Given the description of an element on the screen output the (x, y) to click on. 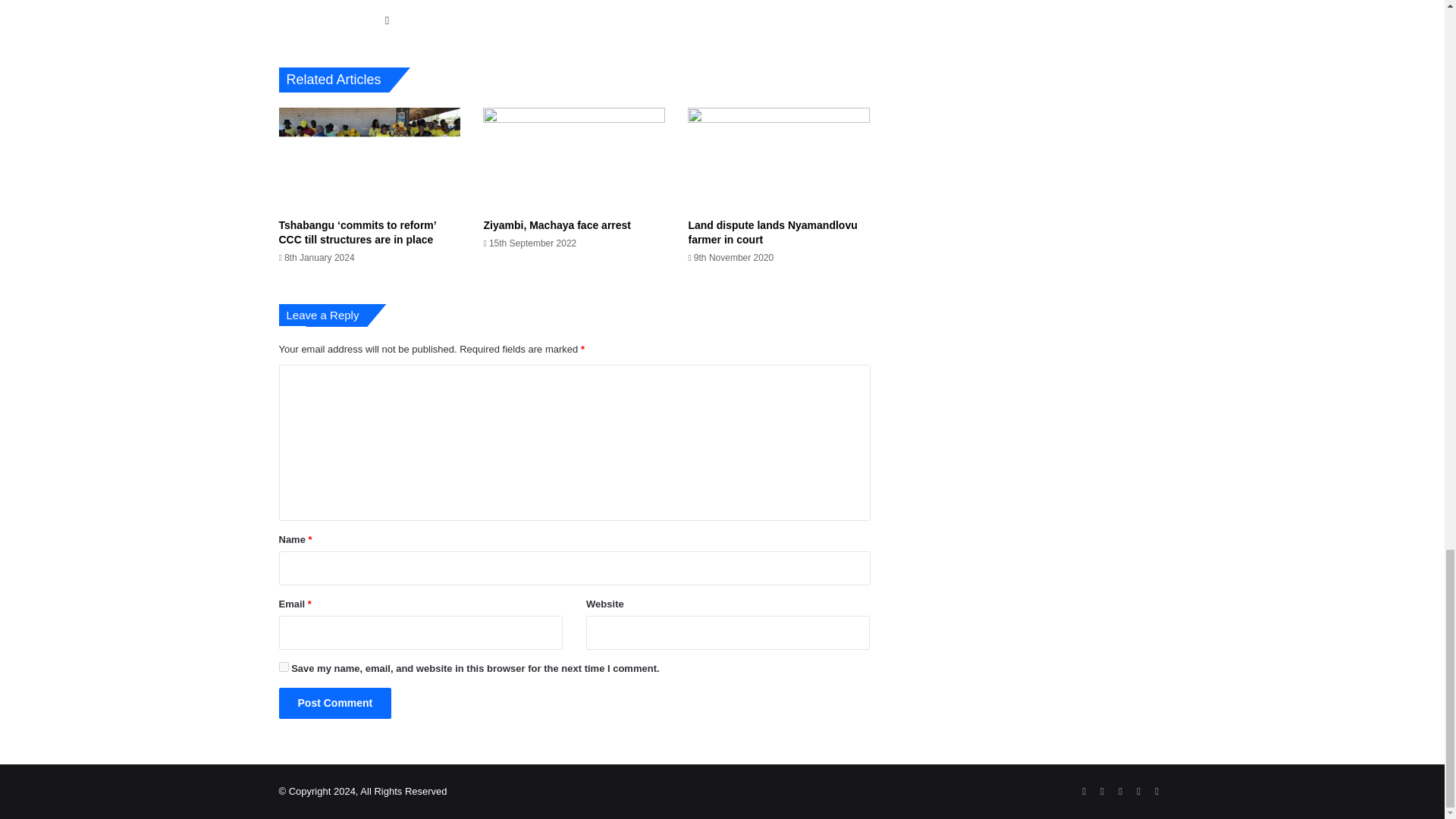
Post Comment (335, 703)
yes (283, 666)
